Given the description of an element on the screen output the (x, y) to click on. 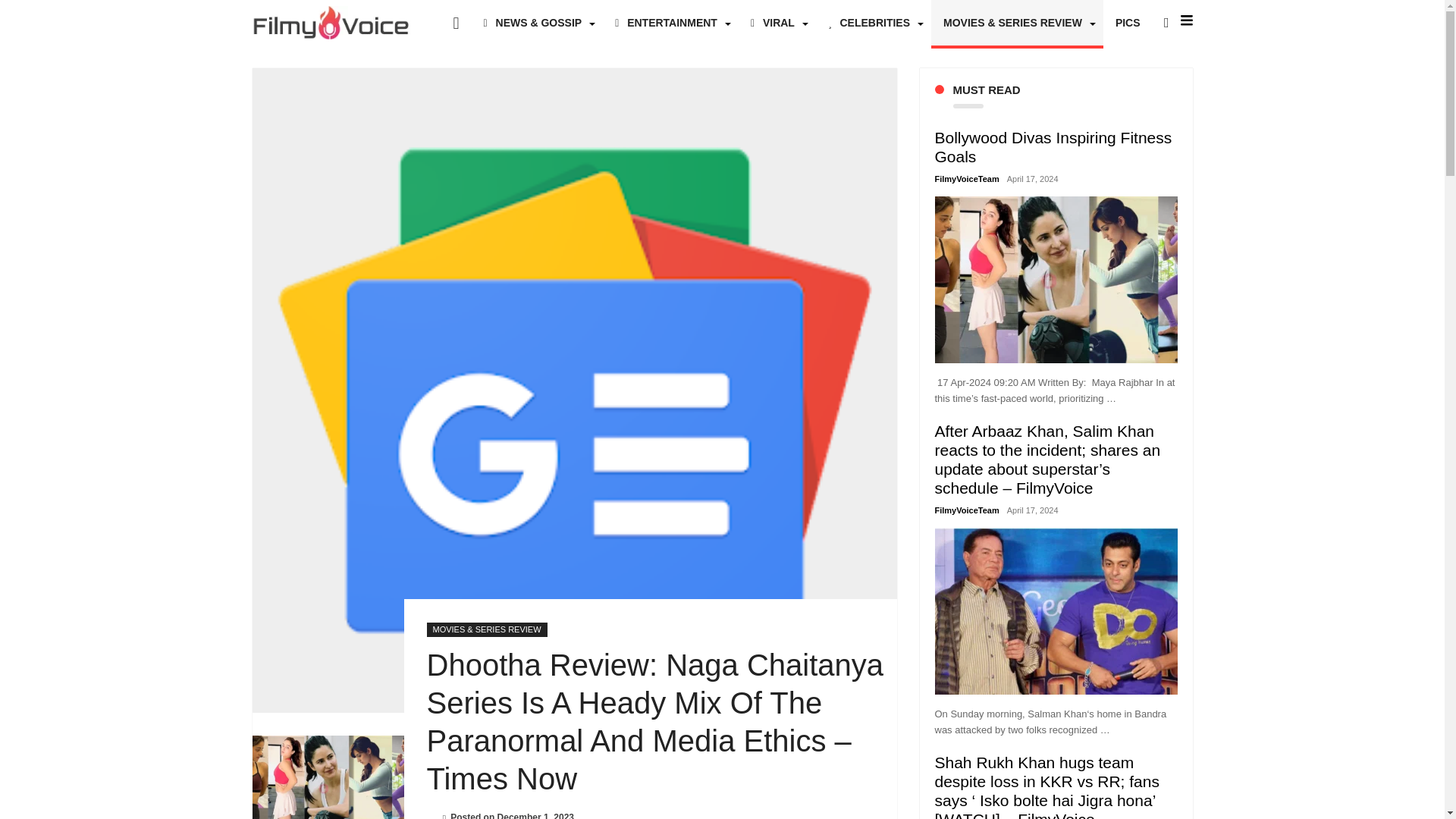
VIRAL (776, 22)
ENTERTAINMENT (670, 22)
CELEBRITIES (873, 22)
